Given the description of an element on the screen output the (x, y) to click on. 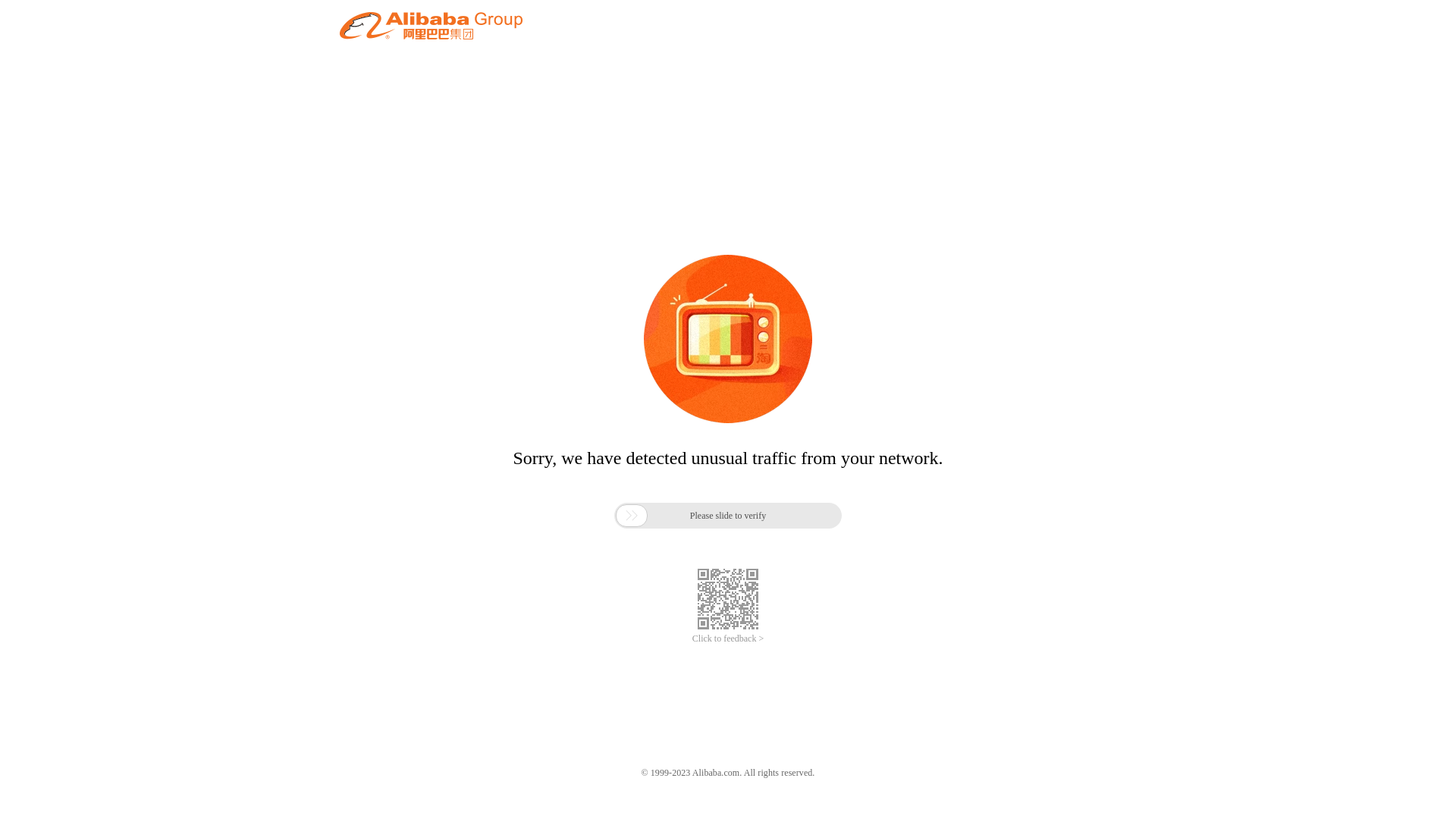
Click to feedback > Element type: text (727, 638)
